Given the description of an element on the screen output the (x, y) to click on. 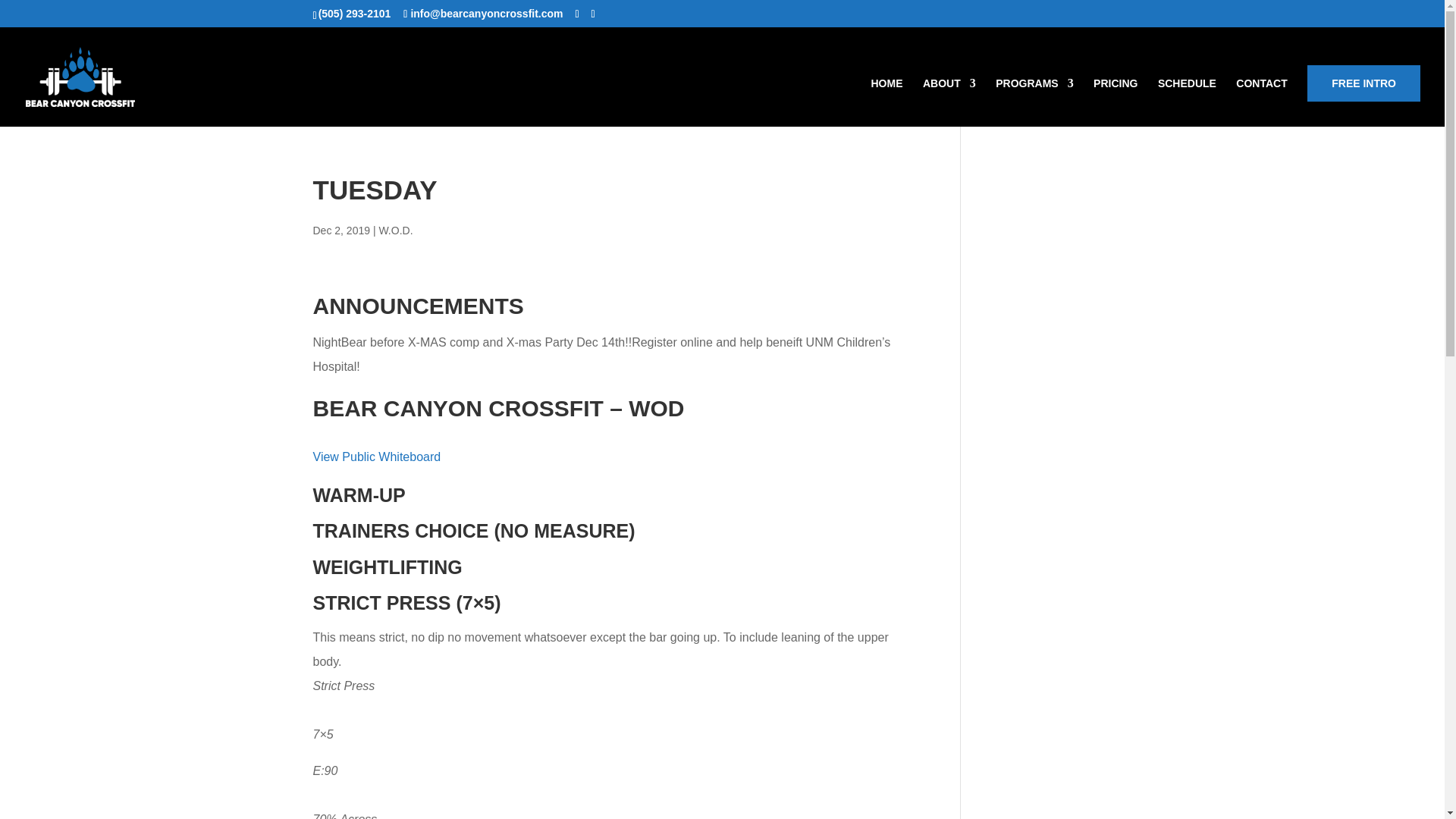
FREE INTRO (1363, 82)
W.O.D. (395, 230)
View Public Whiteboard (377, 456)
CONTACT (1261, 101)
PROGRAMS (1034, 101)
ABOUT (949, 101)
PRICING (1115, 101)
SCHEDULE (1186, 101)
